Given the description of an element on the screen output the (x, y) to click on. 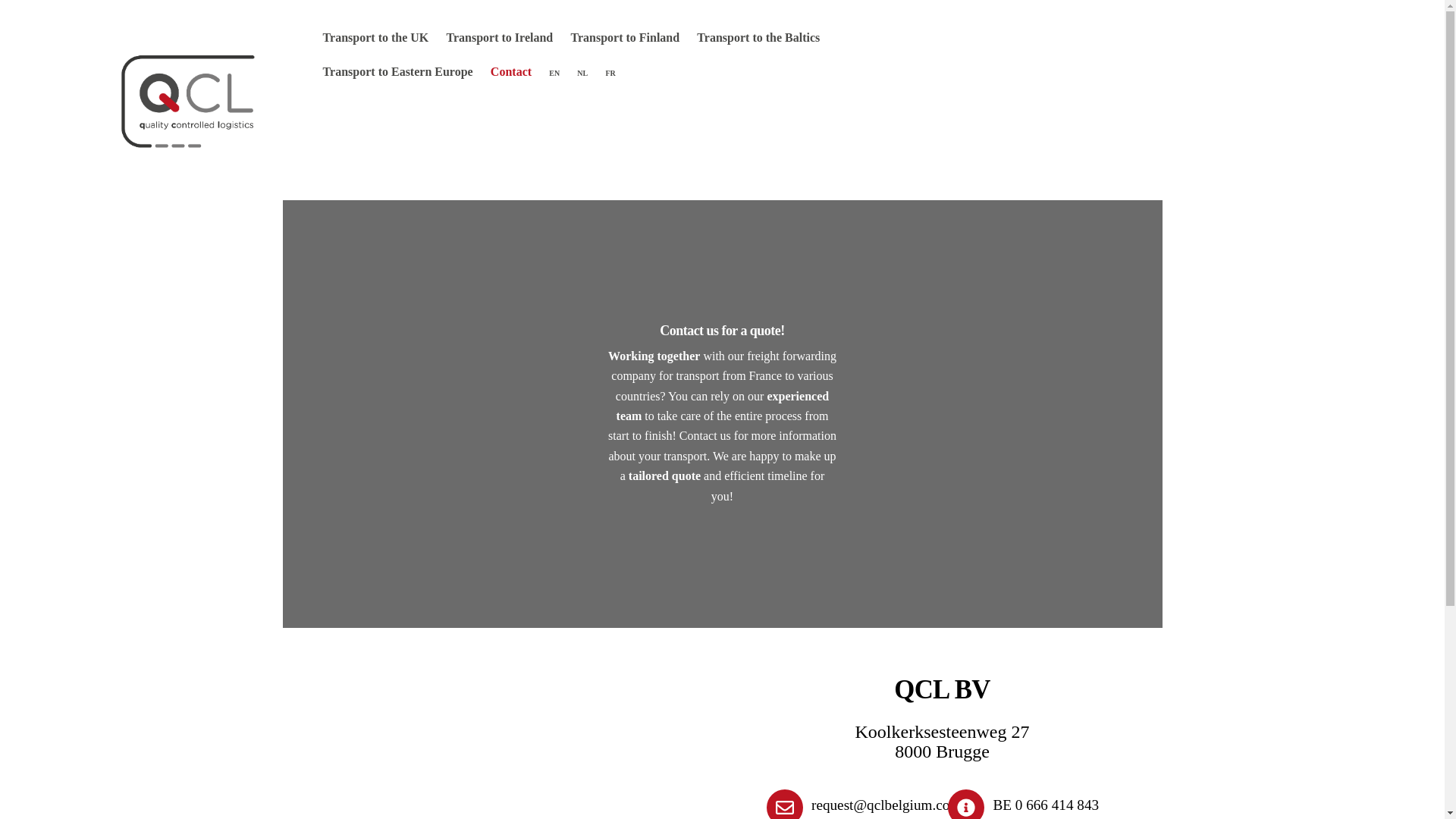
Transport to Finland (625, 37)
QCL (190, 169)
Transport to Ireland (499, 37)
Transport to the UK (375, 37)
Transport to the Baltics (758, 37)
Contact (510, 72)
Transport to Eastern Europe (397, 72)
